Given the description of an element on the screen output the (x, y) to click on. 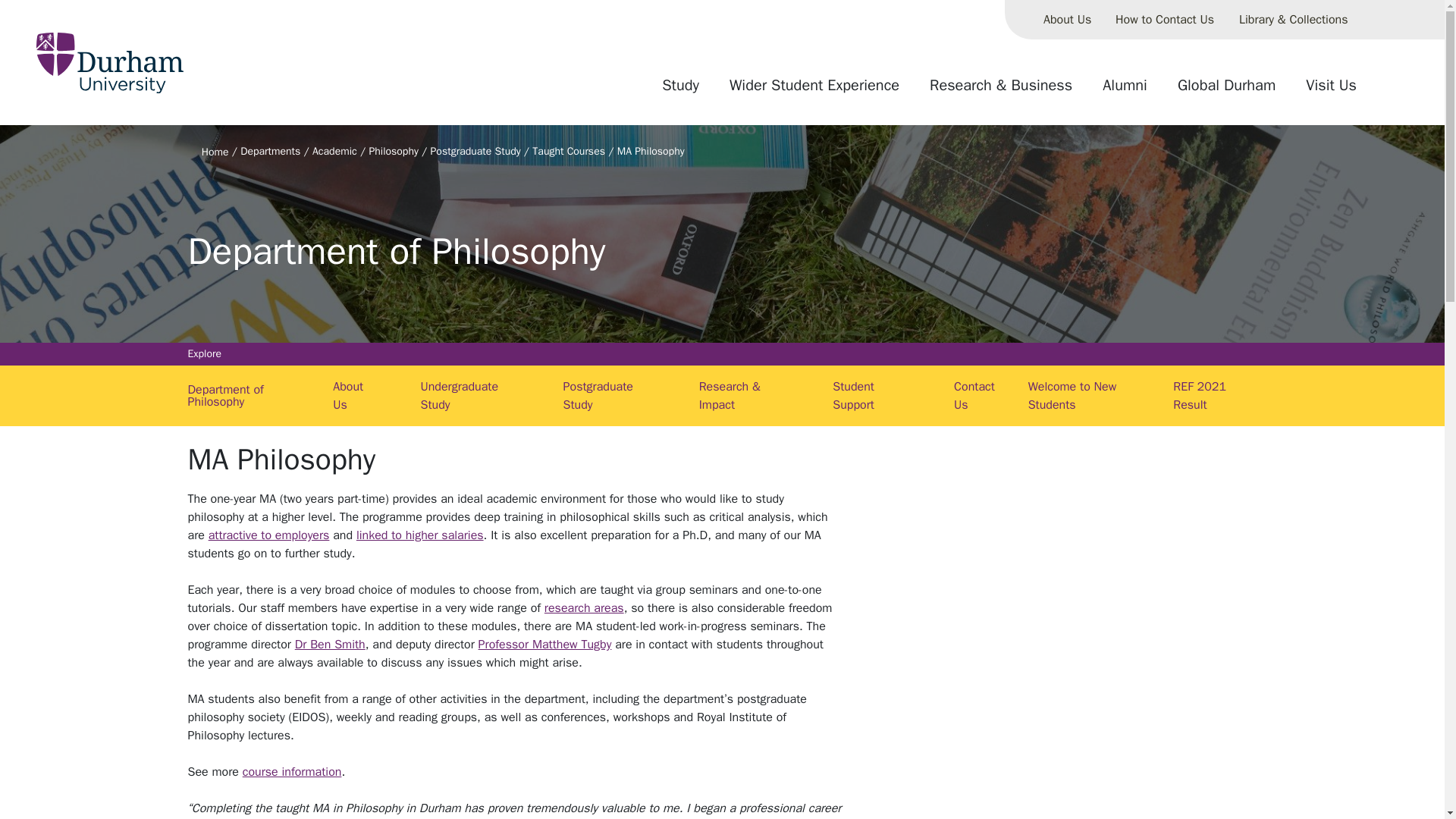
Study (680, 91)
Visit Us (1331, 91)
Wider Student Experience (814, 91)
How to Contact Us (1164, 19)
About Us (1066, 19)
Alumni (1124, 91)
Global Durham (1226, 91)
